Given the description of an element on the screen output the (x, y) to click on. 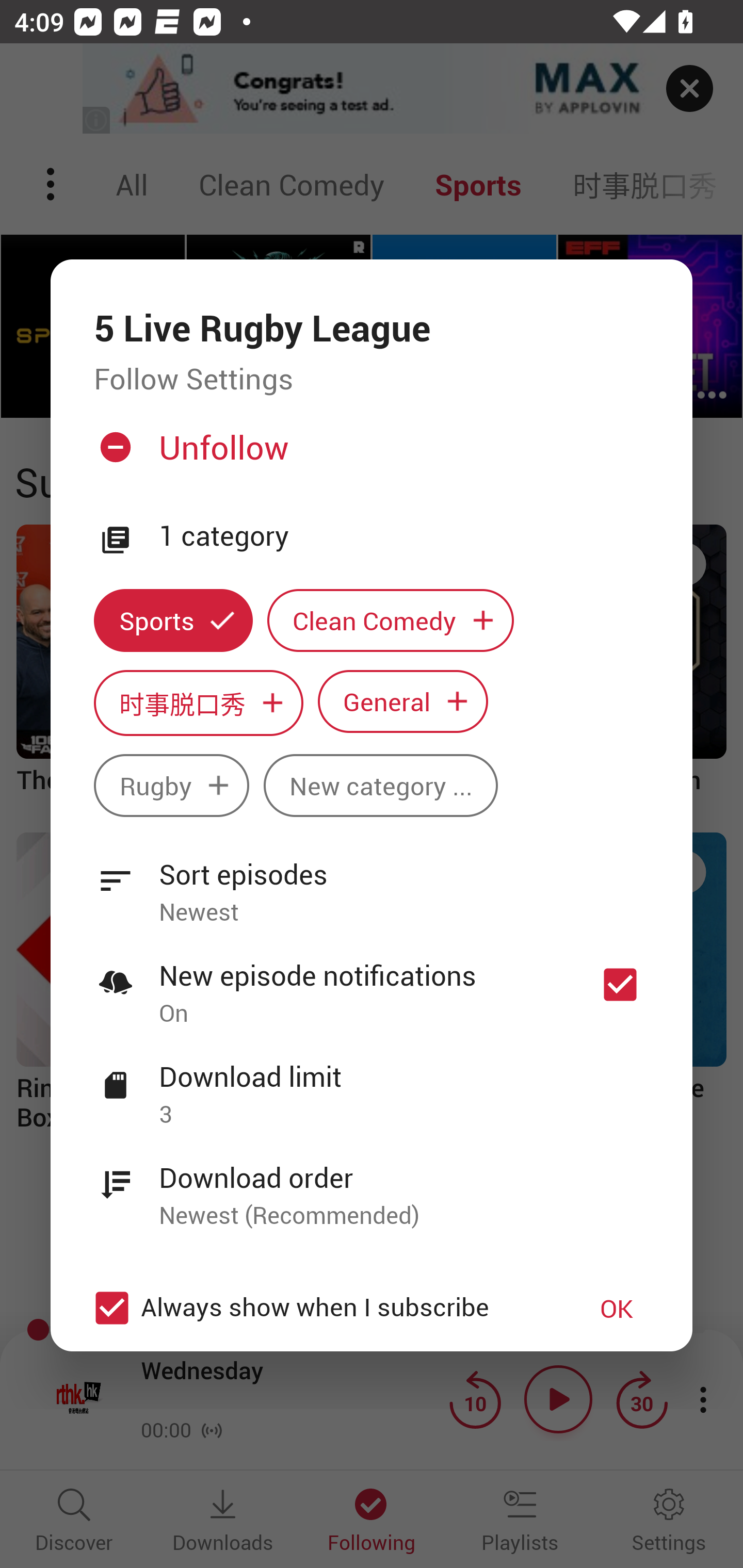
Unfollow (369, 454)
1 category (404, 535)
Sports (172, 620)
Clean Comedy (390, 620)
时事脱口秀 (198, 702)
General (403, 700)
Rugby (170, 785)
New category ... (380, 785)
Sort episodes Newest (371, 881)
New episode notifications (620, 984)
Download limit 3 (371, 1084)
Download order Newest (Recommended) (371, 1185)
OK (616, 1308)
Always show when I subscribe (320, 1308)
